Given the description of an element on the screen output the (x, y) to click on. 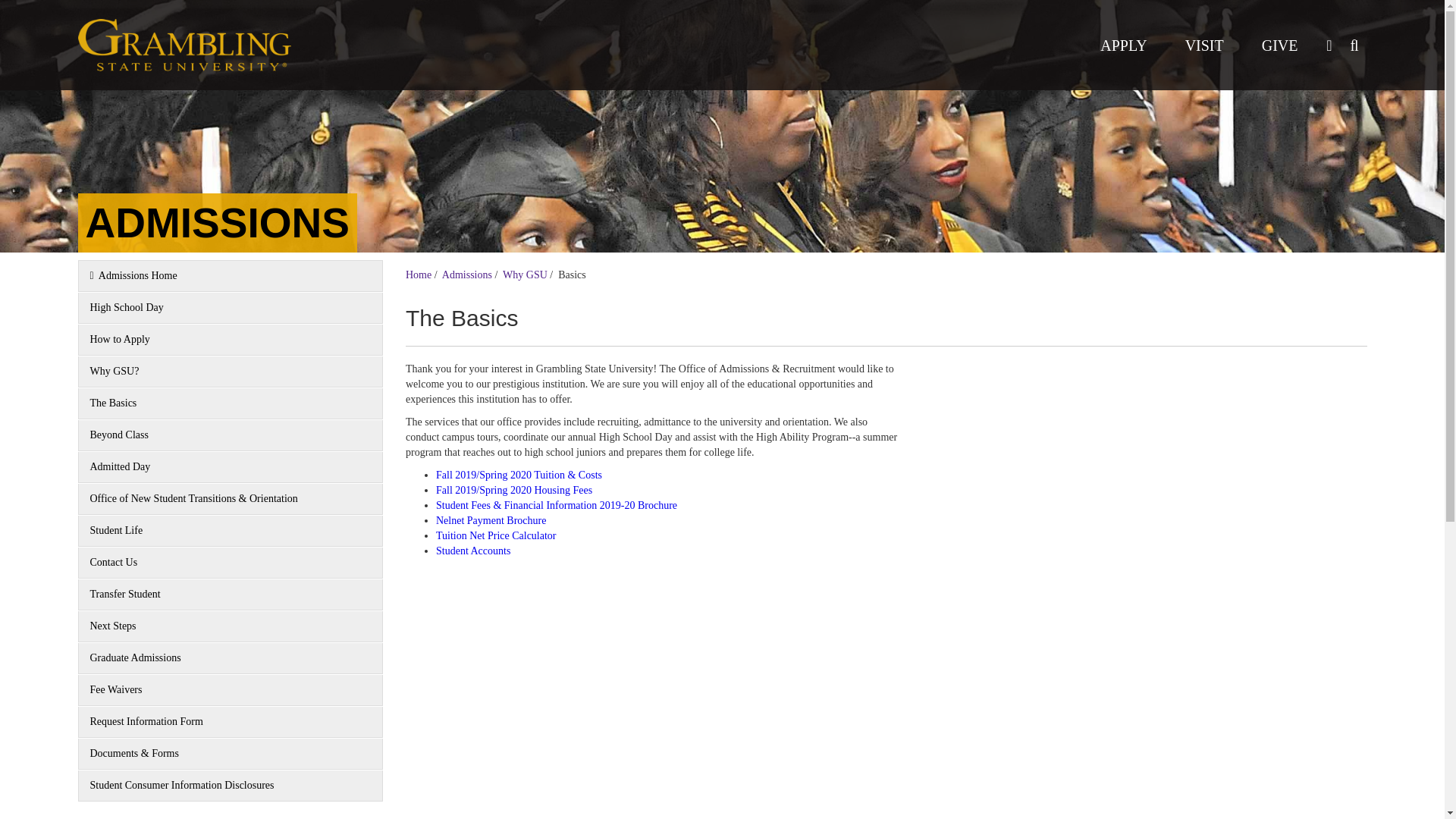
VISIT (1203, 45)
GIVE (1279, 45)
Dropdown Menu (1353, 45)
APPLY (1123, 45)
Dropdown Menu Toggle (1329, 45)
